Given the description of an element on the screen output the (x, y) to click on. 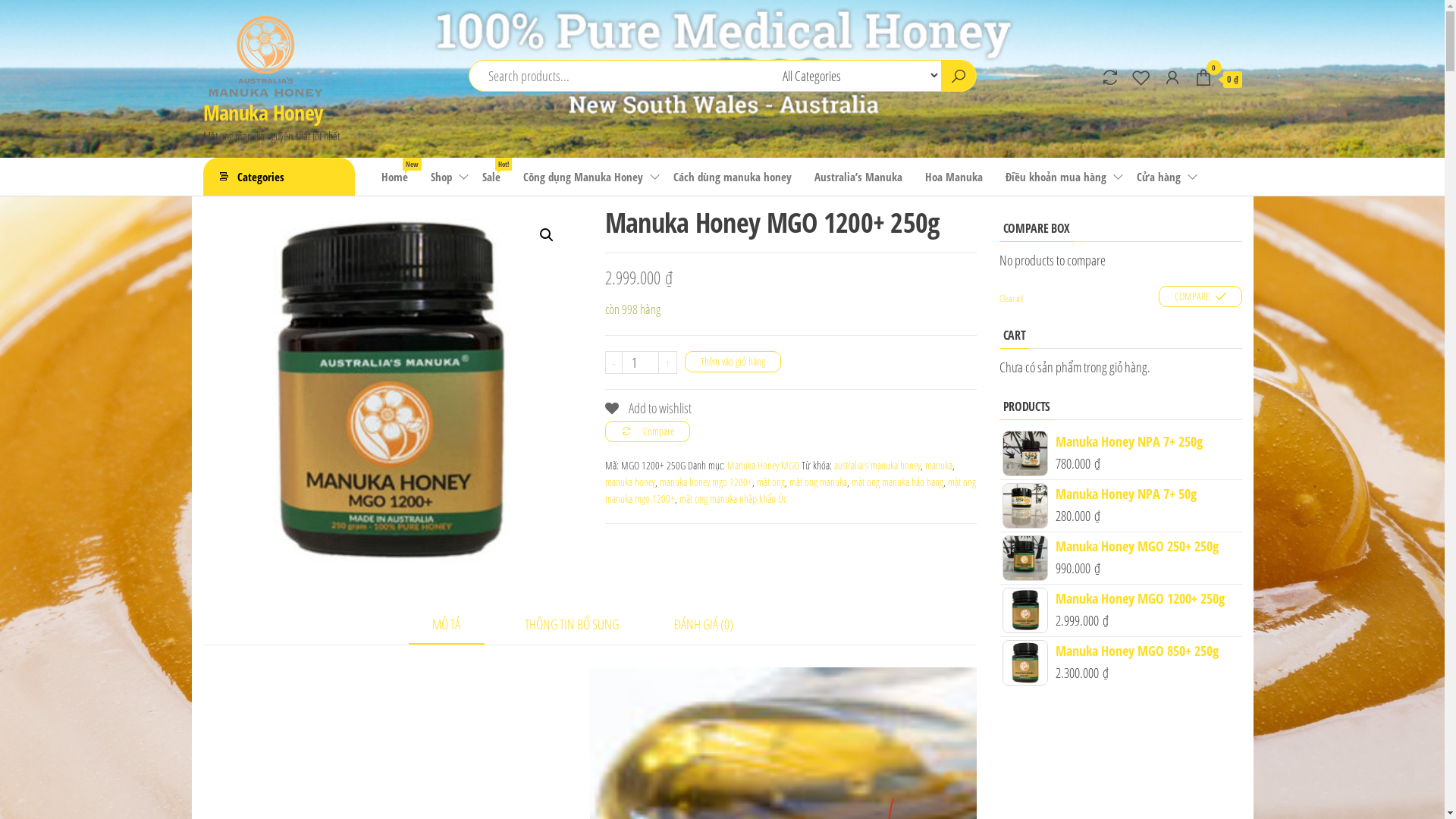
- Element type: text (613, 362)
Shop Element type: text (444, 176)
australia's manuka honey Element type: text (877, 465)
Manuka Honey NPA 7+ 250g Element type: text (1120, 441)
Manuka Honey MGO 850+ 250g Element type: text (1120, 651)
Wishlist Element type: hover (1141, 77)
Clear all Element type: text (1010, 297)
manuka honey Element type: text (630, 481)
manuka honey mgo 1200+ Element type: text (705, 481)
+ Element type: text (667, 362)
Compare Element type: text (647, 431)
Manuka Honey MGO Element type: text (763, 465)
My Account Element type: hover (1171, 77)
manuka-honey-mgo-1200-mau-dung.jpg Element type: hover (388, 393)
COMPARE Element type: text (1199, 296)
Manuka Honey MGO 250+ 250g Element type: text (1120, 546)
Hoa Manuka Element type: text (953, 176)
Manuka Honey NPA 7+ 50g Element type: text (1120, 494)
Manuka Honey MGO 1200+ 250g Element type: text (1120, 598)
manuka Element type: text (938, 465)
Manuka Honey Element type: text (263, 111)
Add to wishlist Element type: text (648, 407)
Categories Element type: text (278, 176)
Home
New Element type: text (394, 176)
Compare Element type: hover (1109, 77)
Sale
Hot! Element type: text (490, 176)
